Given the description of an element on the screen output the (x, y) to click on. 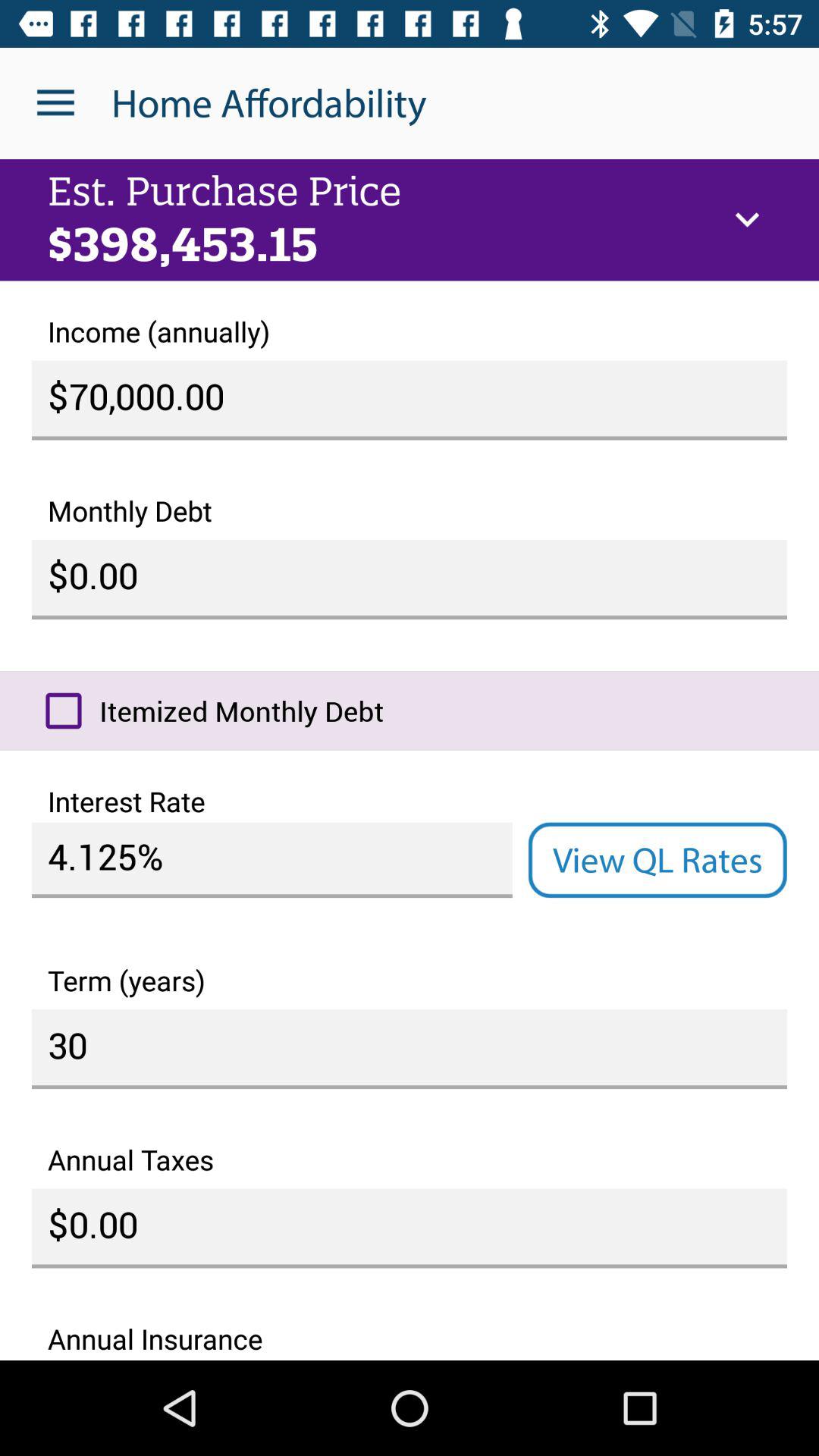
open icon above the income (annually) icon (747, 219)
